Given the description of an element on the screen output the (x, y) to click on. 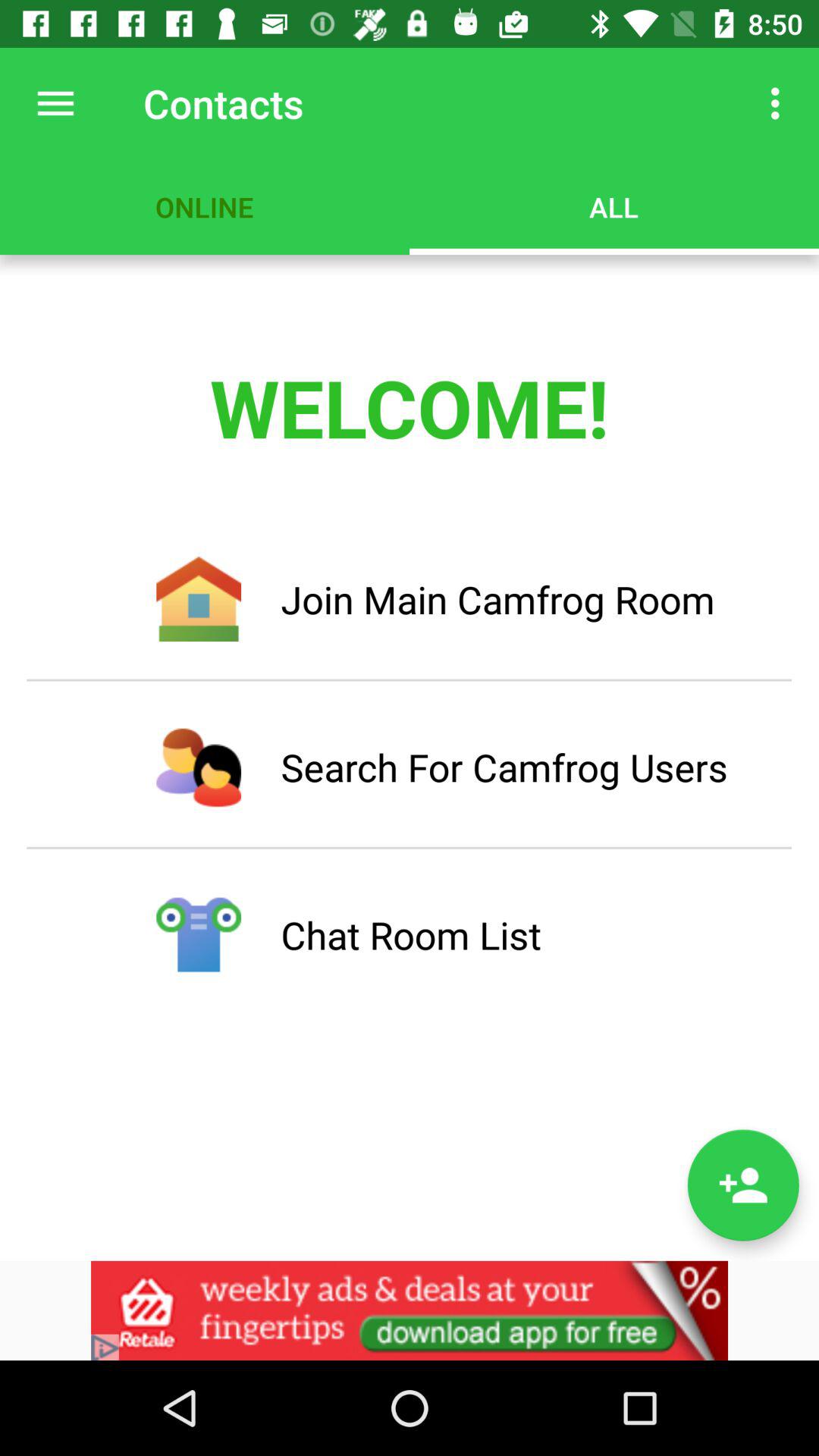
link to advertisement (409, 1310)
